Given the description of an element on the screen output the (x, y) to click on. 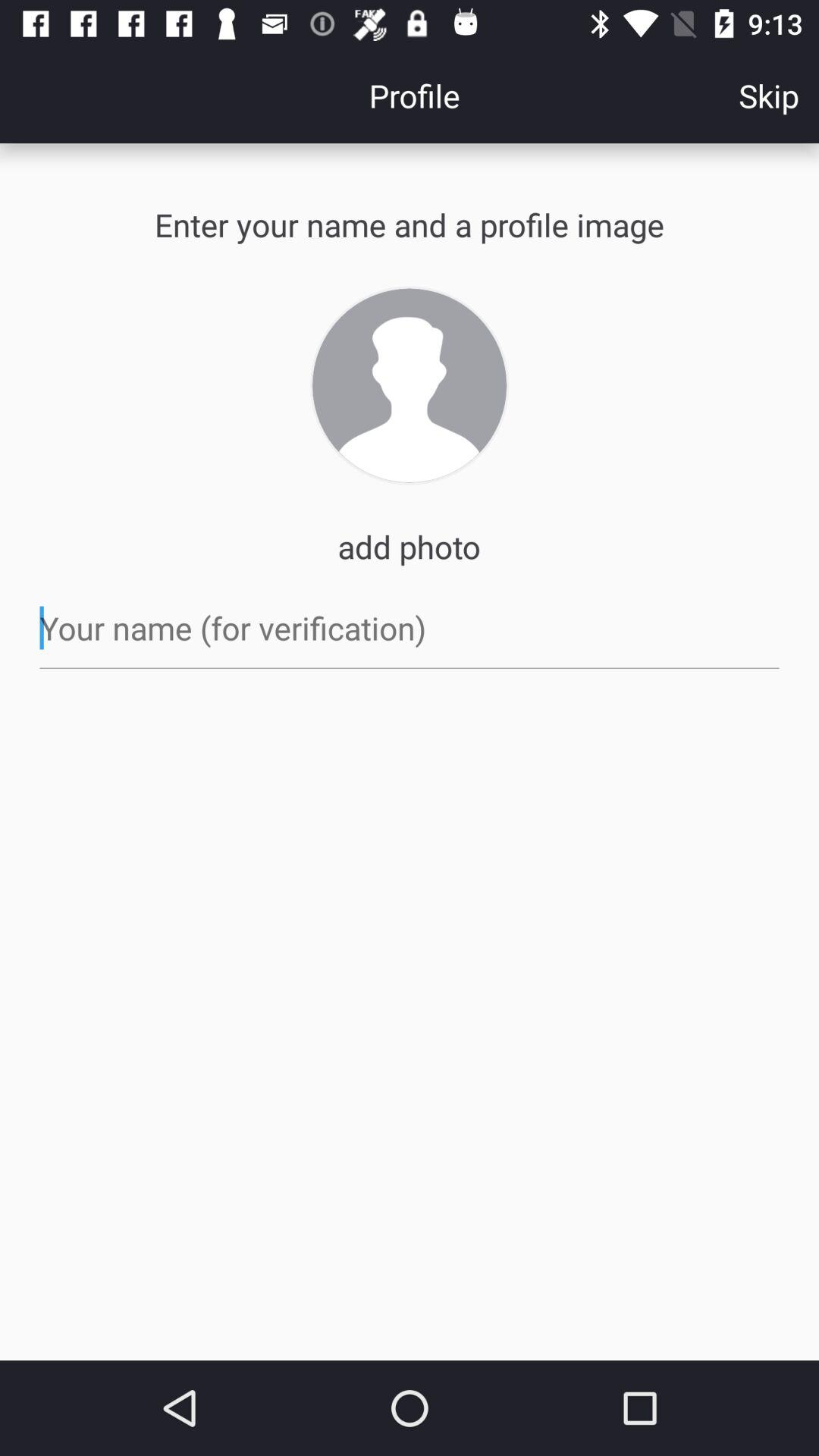
turn off the icon below enter your name (409, 385)
